Given the description of an element on the screen output the (x, y) to click on. 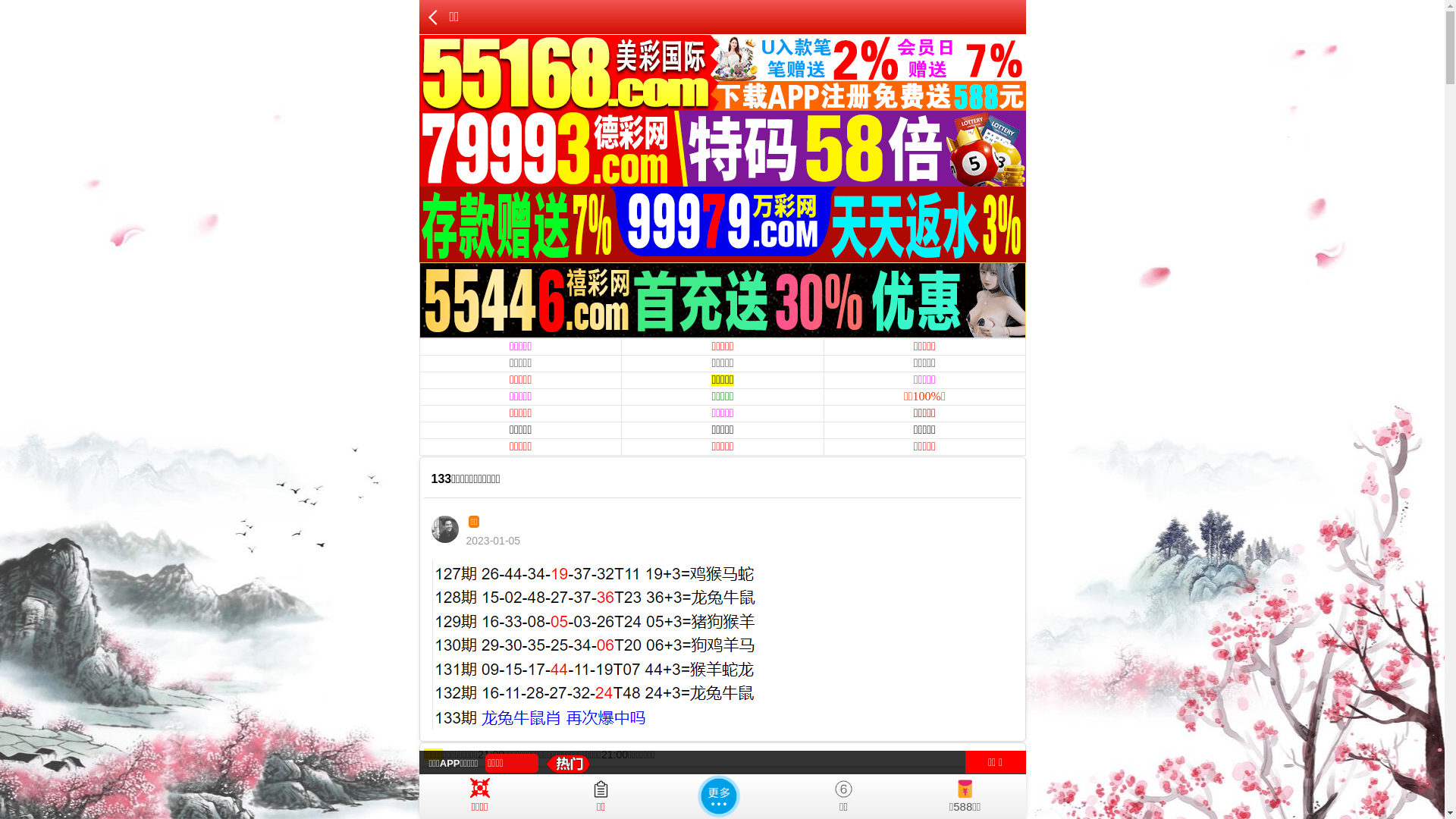
1005 Element type: text (684, 796)
8 Element type: text (768, 796)
